Given the description of an element on the screen output the (x, y) to click on. 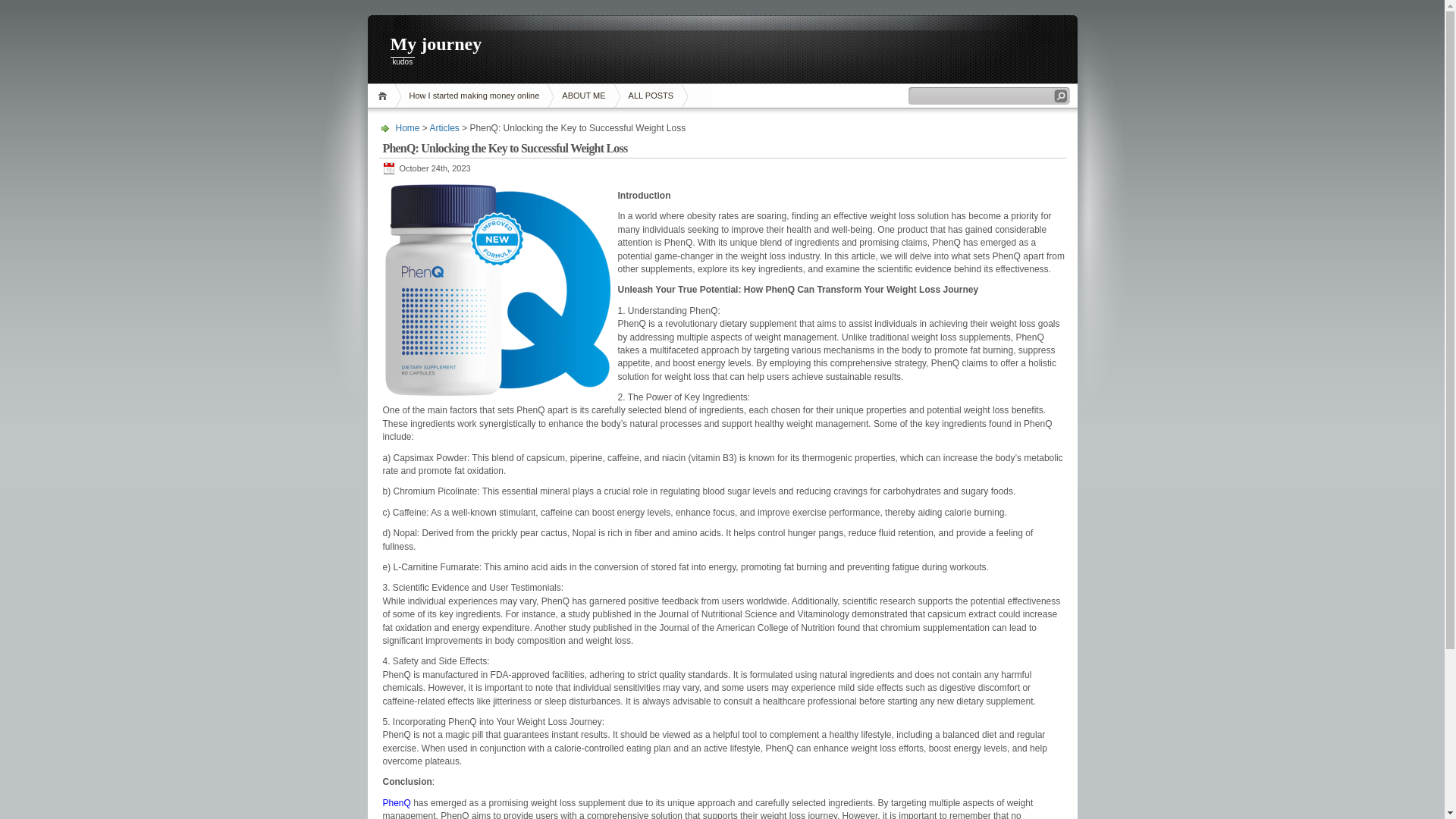
My journey (722, 45)
Go to homepage (408, 127)
ALL POSTS (650, 95)
Home (408, 127)
ABOUT ME (583, 95)
Home (383, 95)
PhenQ (395, 802)
How I started making money online (474, 95)
Home (383, 95)
Articles (444, 127)
